Given the description of an element on the screen output the (x, y) to click on. 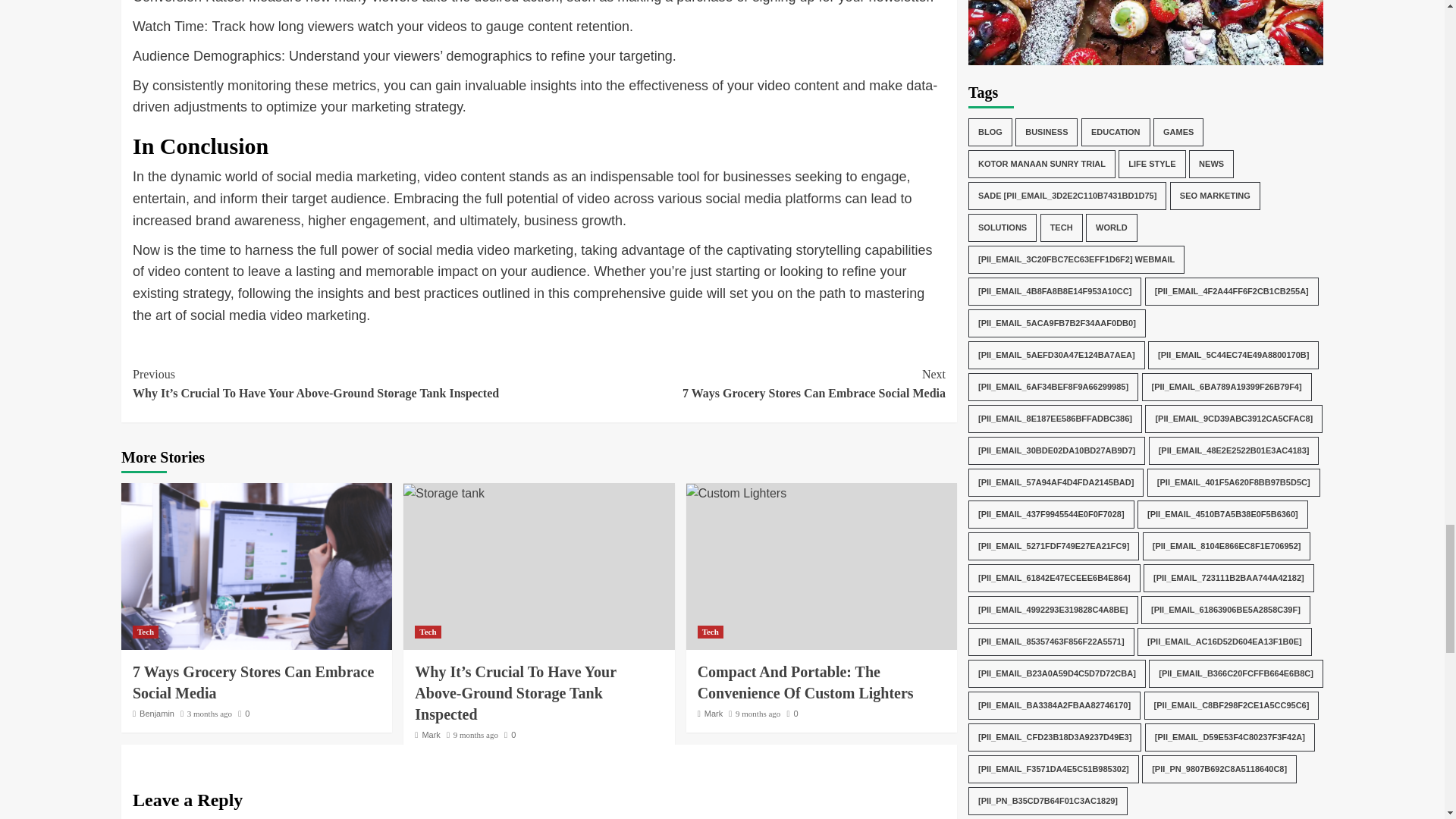
Tech (741, 383)
